Given the description of an element on the screen output the (x, y) to click on. 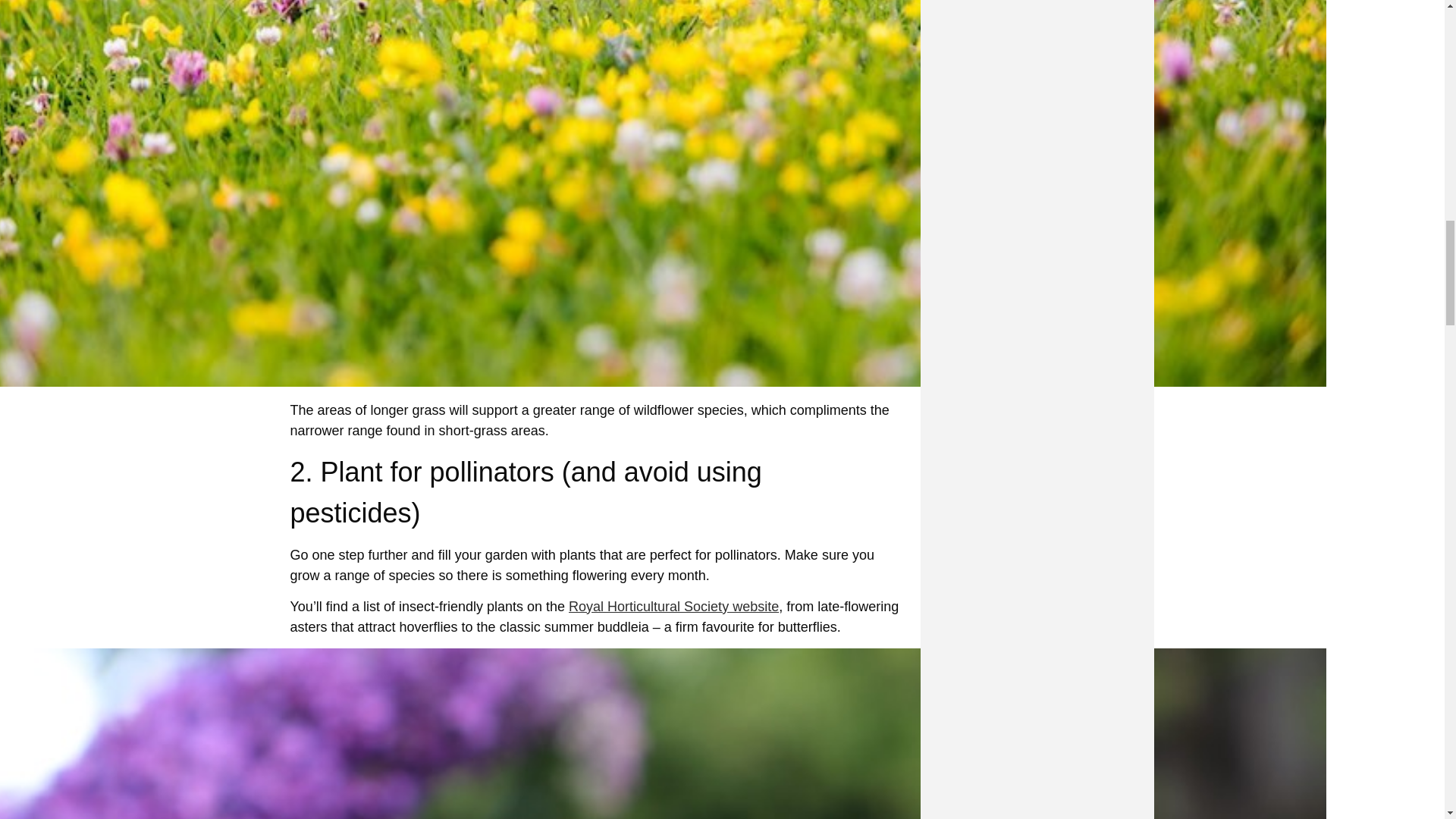
Royal Horticultural Society website (673, 606)
